Given the description of an element on the screen output the (x, y) to click on. 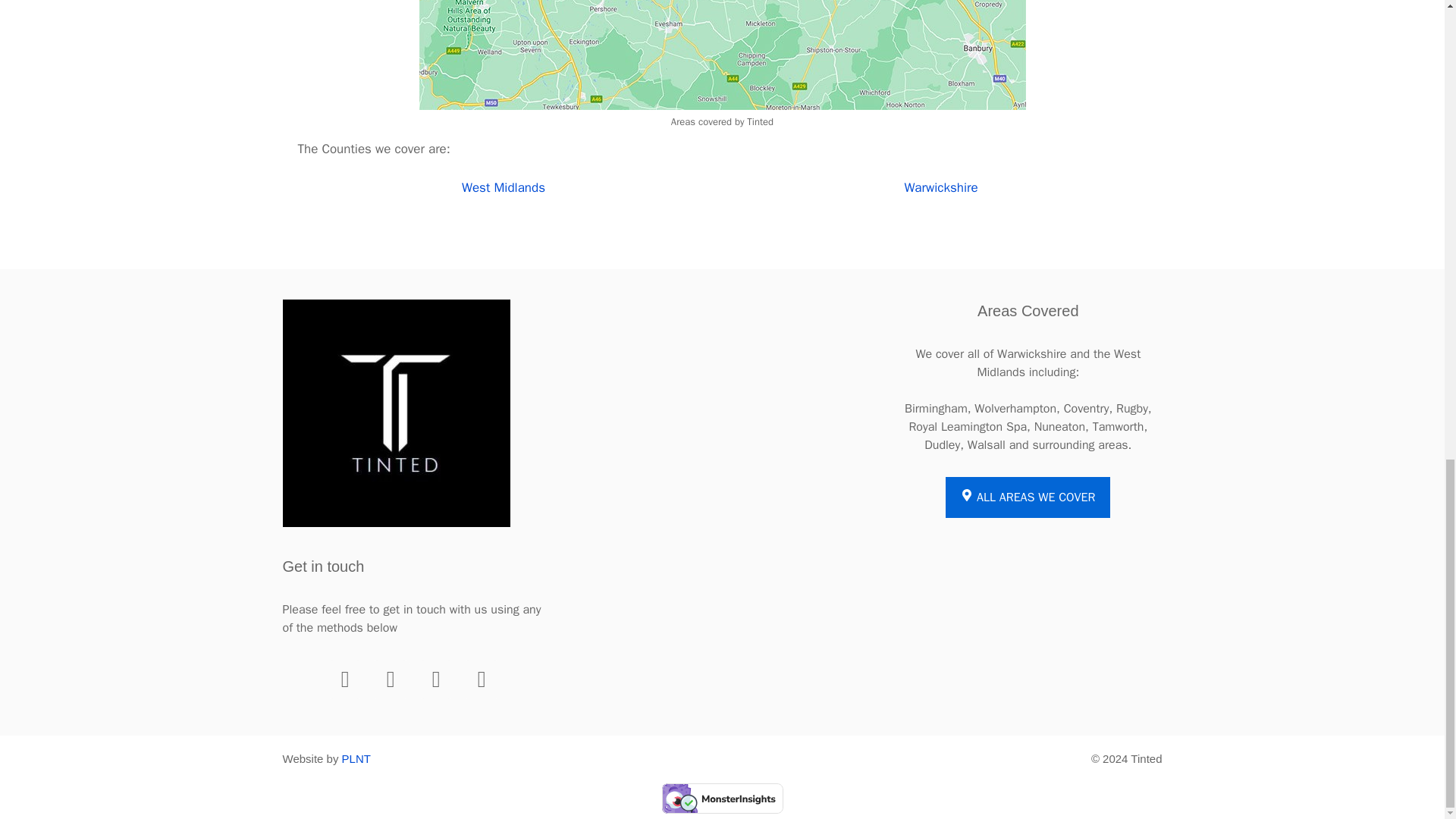
West Midlands (502, 187)
Verified by MonsterInsights (722, 798)
 ALL AREAS WE COVER (1026, 496)
Scroll back to top (1406, 485)
PLNT Website Design (356, 758)
Warwickshire (940, 187)
PLNT (356, 758)
